Given the description of an element on the screen output the (x, y) to click on. 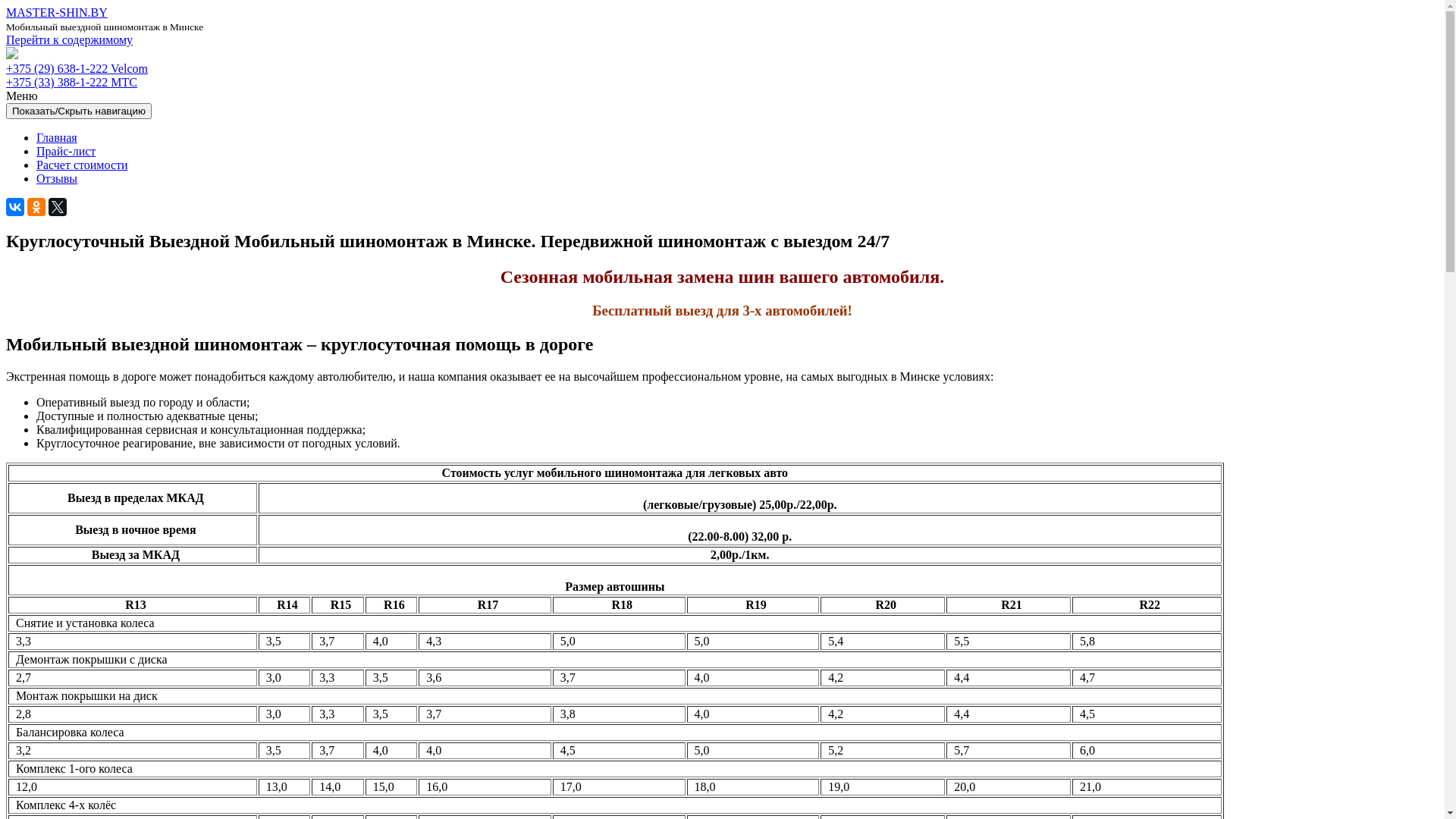
+375 (29) 638-1-222 Velcom Element type: text (76, 68)
MASTER-SHIN.BY Element type: text (56, 12)
Twitter Element type: hover (57, 206)
